Given the description of an element on the screen output the (x, y) to click on. 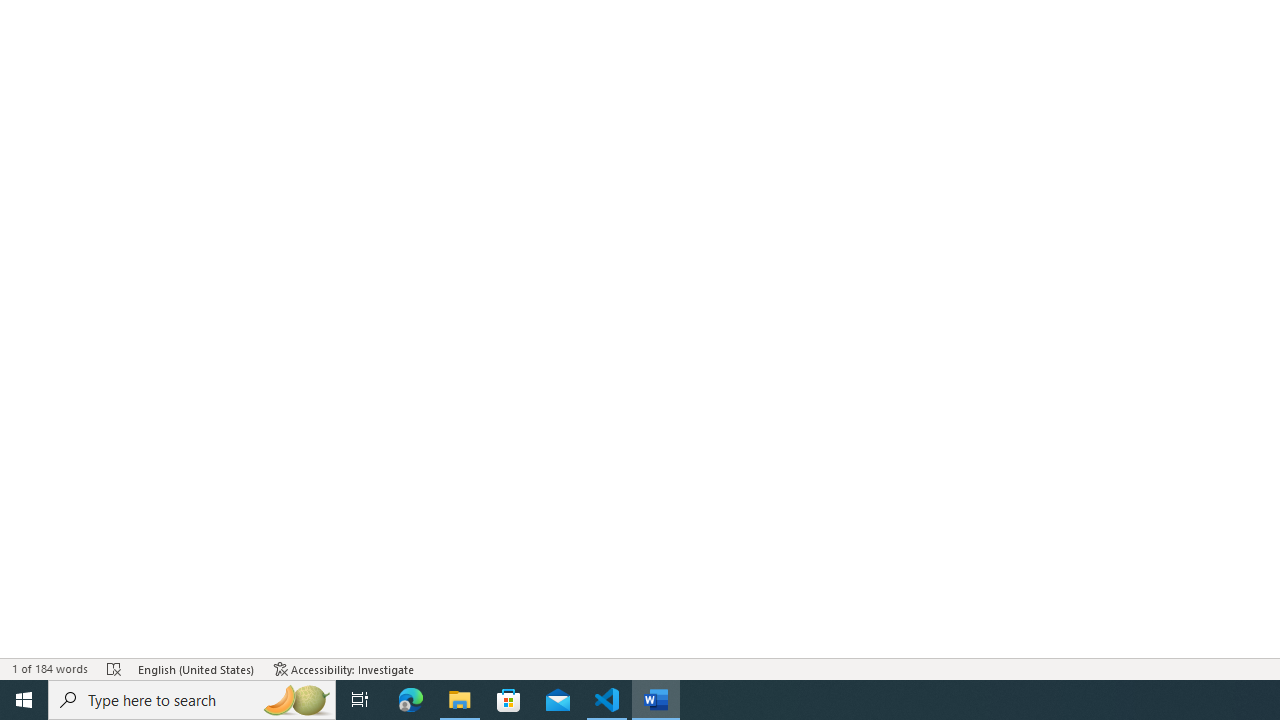
Word Count 1 of 184 words (49, 668)
Accessibility Checker Accessibility: Investigate (344, 668)
Spelling and Grammar Check Errors (114, 668)
Language English (United States) (196, 668)
